Given the description of an element on the screen output the (x, y) to click on. 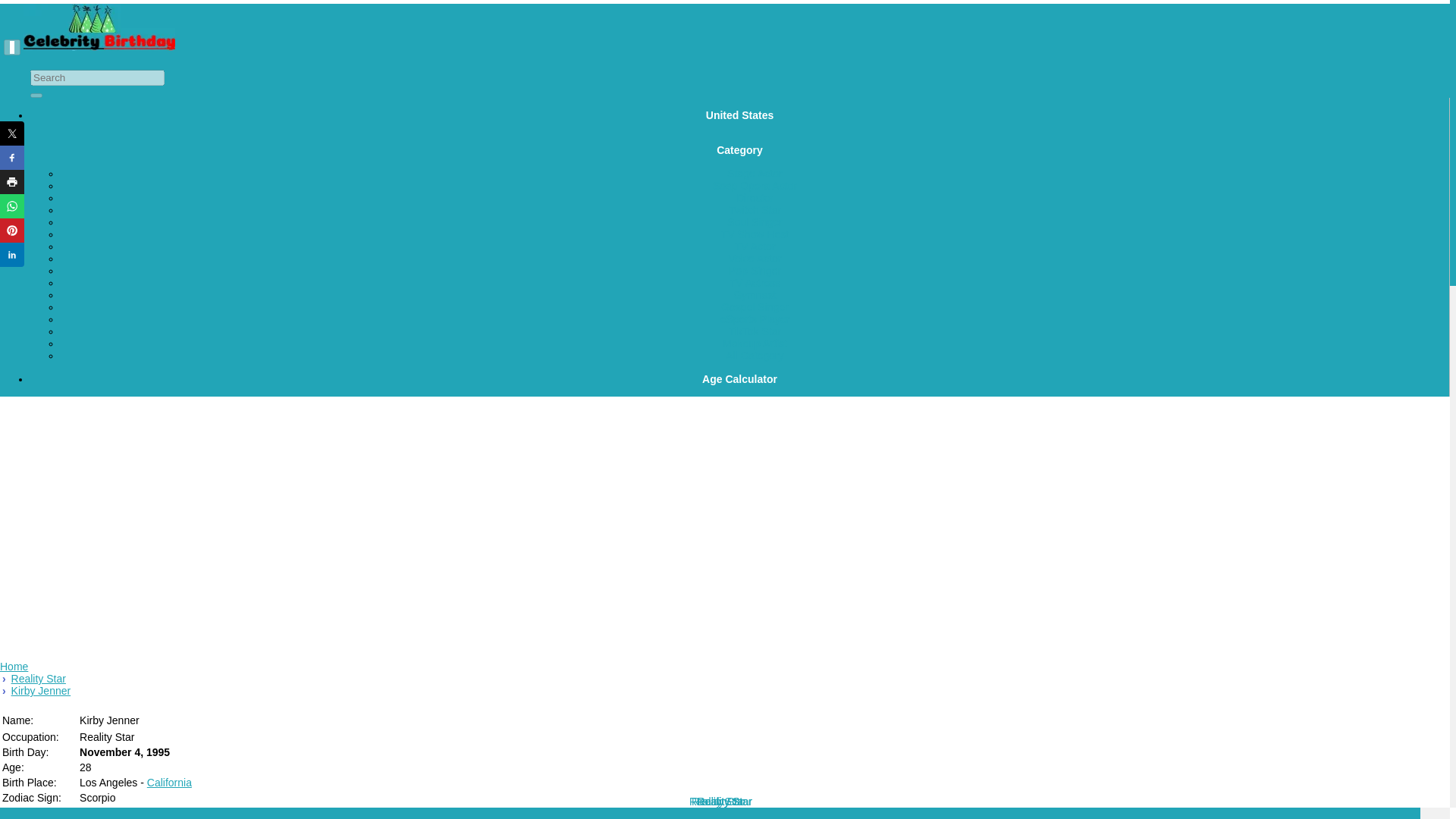
United States (739, 114)
Home (13, 666)
Celebrities in US (739, 114)
Home (13, 666)
Reality Star (38, 678)
California (169, 782)
